Given the description of an element on the screen output the (x, y) to click on. 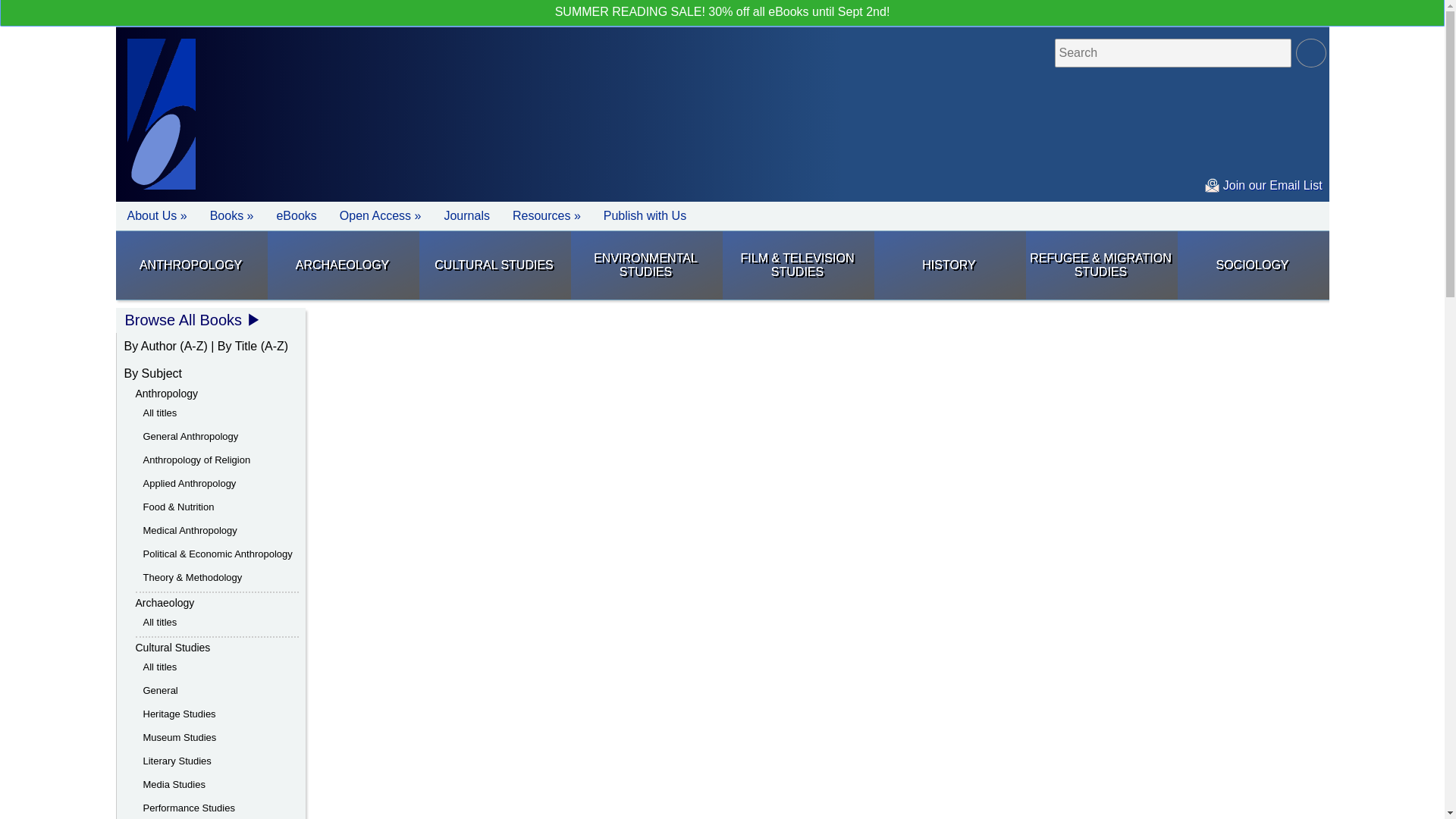
Publish with Us (644, 215)
History (948, 264)
Film Studies (797, 265)
ANTHROPOLOGY (189, 264)
Archaeology (341, 264)
Cultural Studies (494, 264)
Environmental Studies (645, 265)
Sociology (1251, 264)
Journals (466, 215)
Anthropology (189, 264)
